Given the description of an element on the screen output the (x, y) to click on. 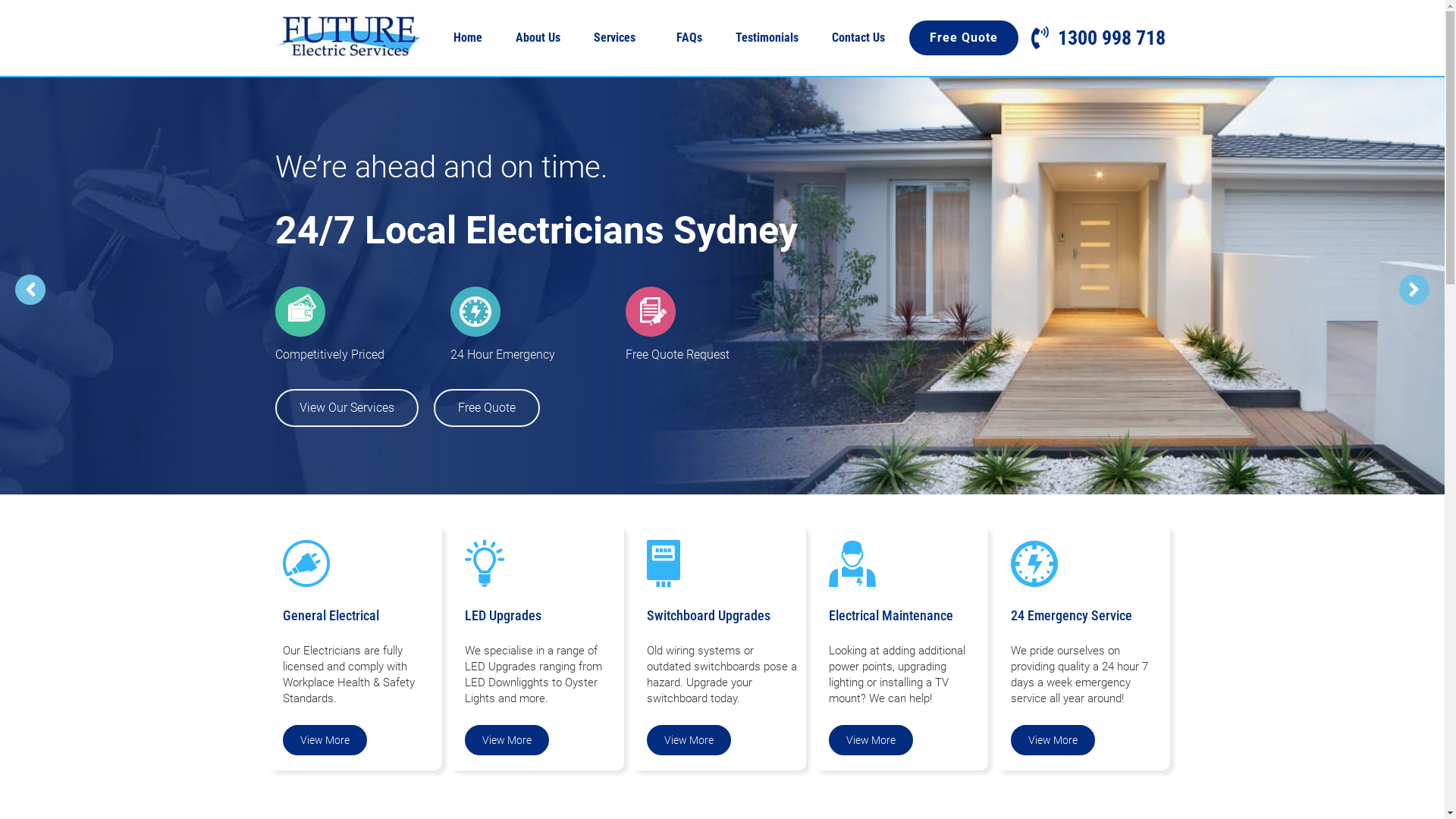
1300 998 718 Element type: text (1095, 37)
View More Element type: text (1052, 739)
Free Quote Element type: text (962, 37)
About Us Element type: text (537, 37)
View More Element type: text (688, 739)
Home Element type: text (467, 37)
View More Element type: text (506, 739)
FAQs Element type: text (688, 37)
View More Element type: text (870, 739)
Contact Us Element type: text (857, 37)
Services Element type: text (617, 37)
Testimonials Element type: text (766, 37)
View More Element type: text (324, 739)
